Given the description of an element on the screen output the (x, y) to click on. 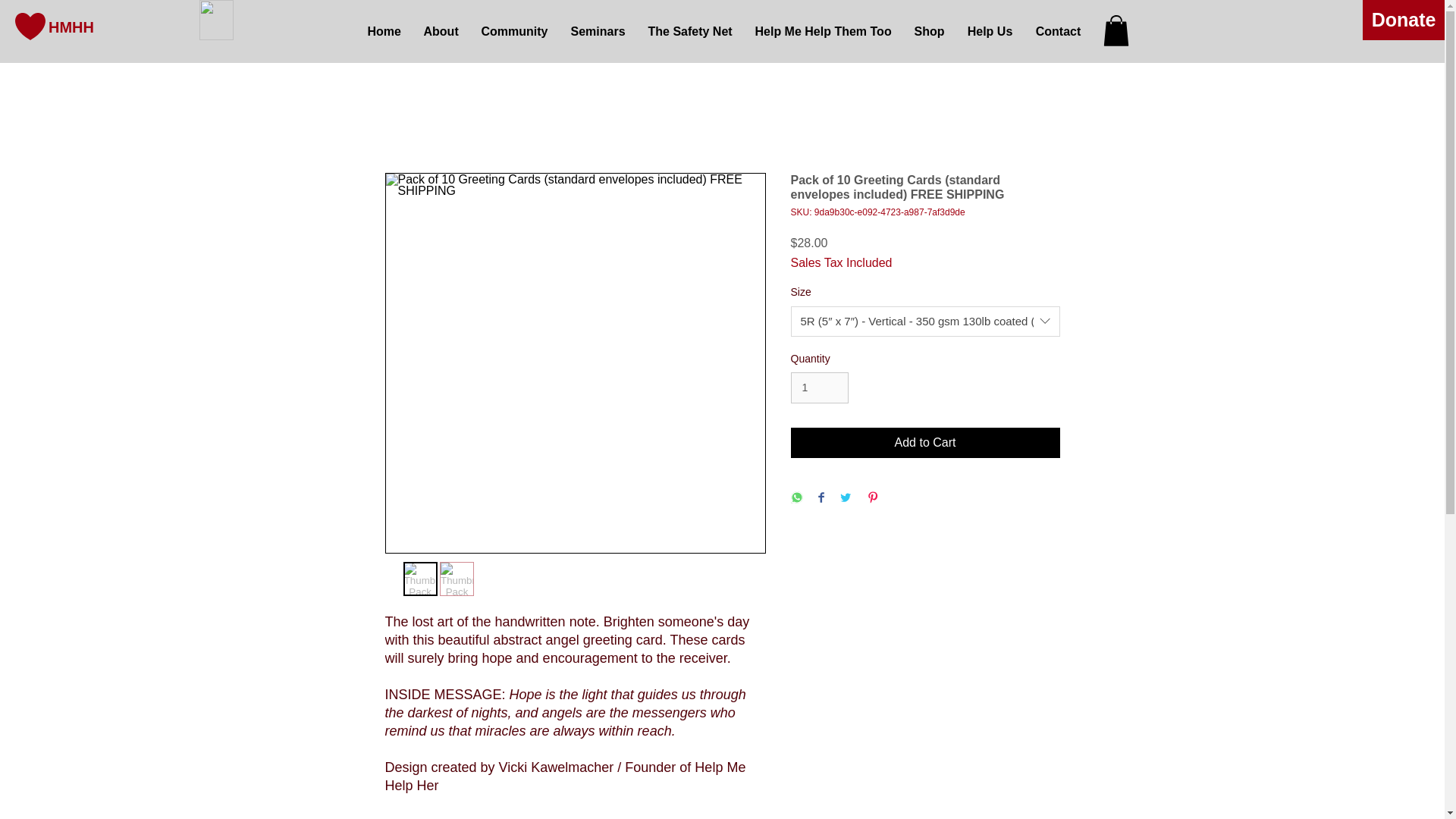
Contact (1057, 31)
About (441, 31)
Seminars (598, 31)
The Safety Net (690, 31)
Help Us (989, 31)
Home (384, 31)
Add to Cart (924, 442)
Shop (928, 31)
HMHH (71, 26)
1 (818, 387)
Community (514, 31)
Help Me Help Them Too (822, 31)
